Given the description of an element on the screen output the (x, y) to click on. 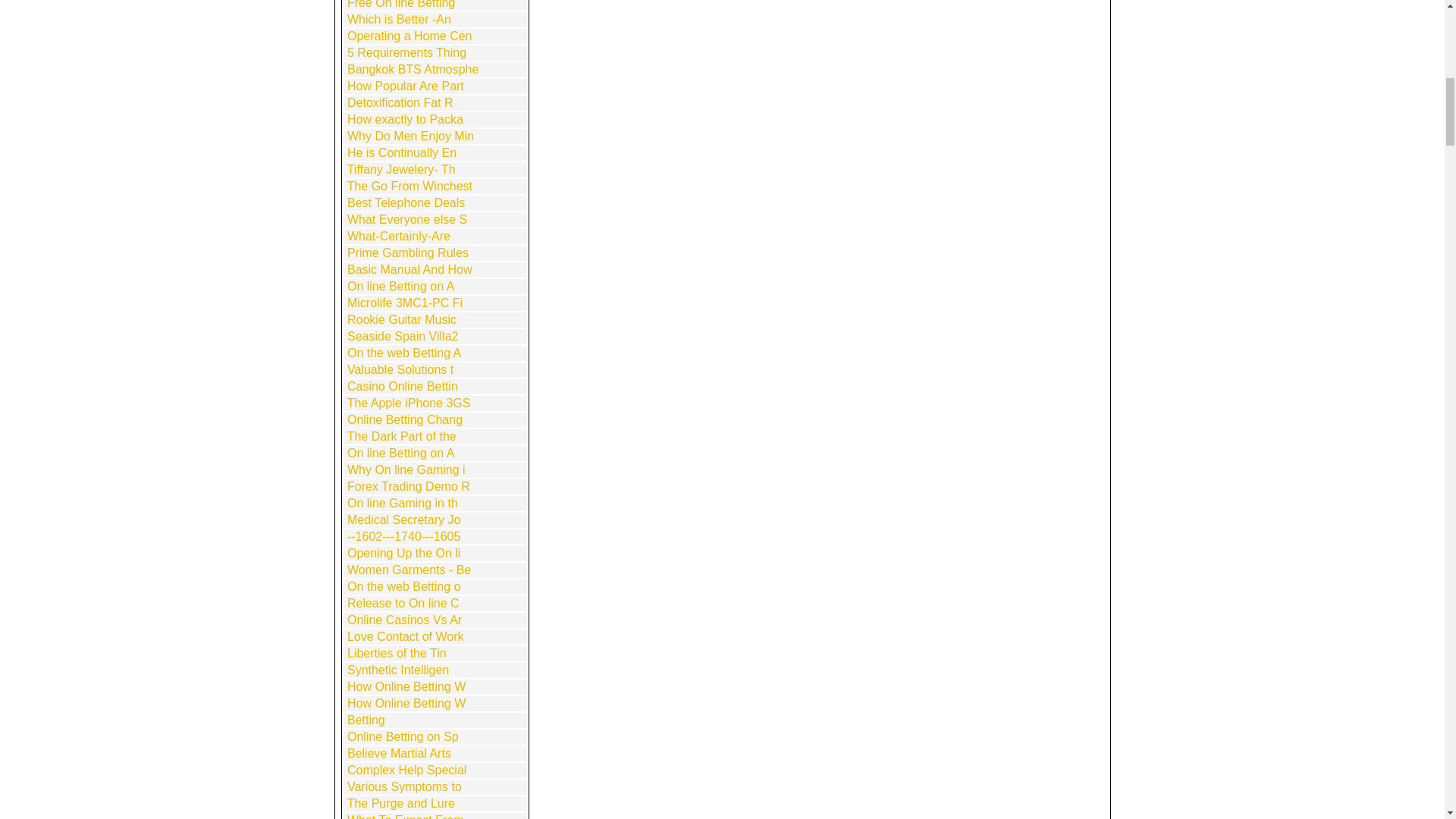
Which is Better -An (399, 19)
Free On line Betting (400, 4)
